Given the description of an element on the screen output the (x, y) to click on. 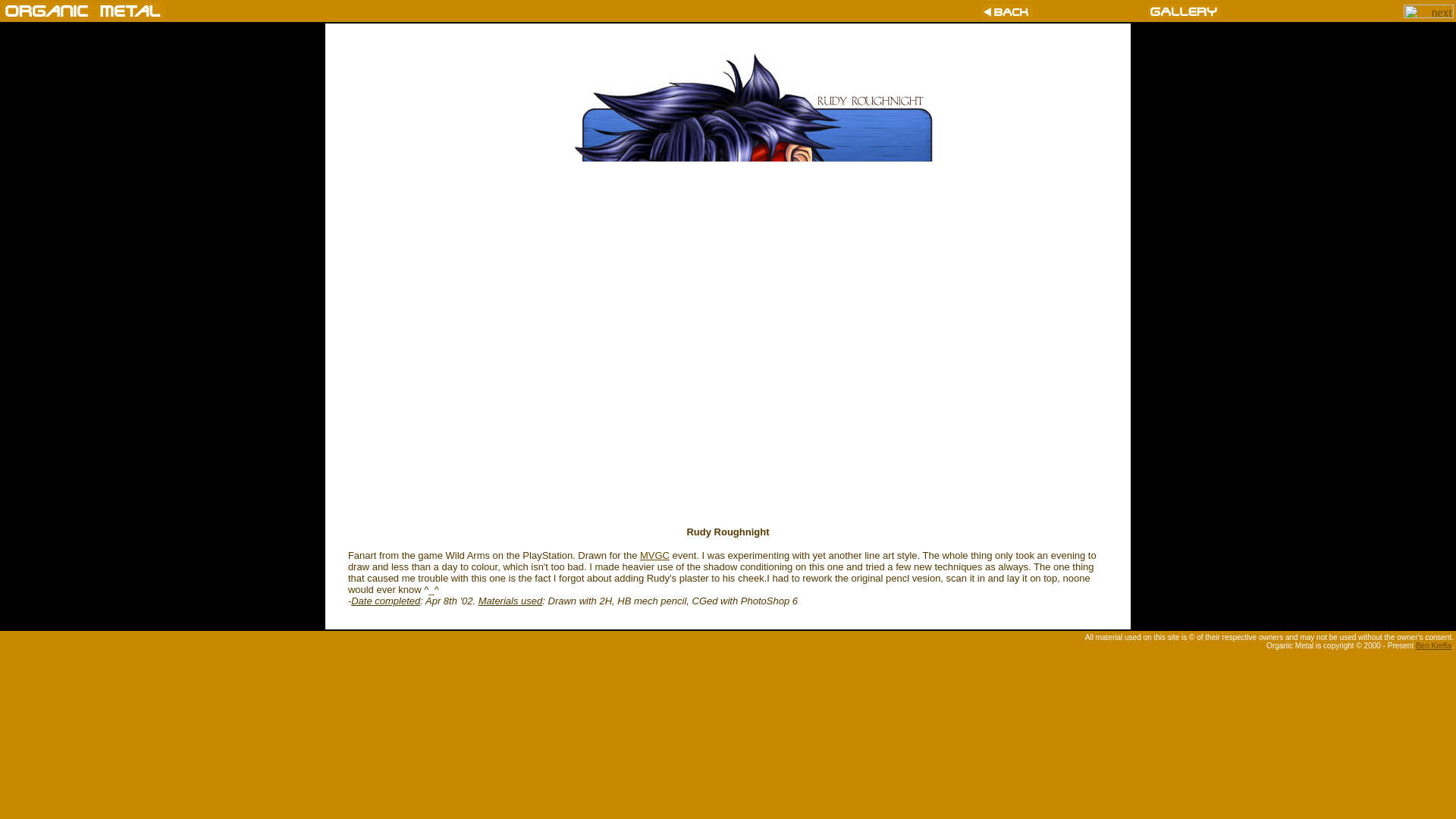
MVGC (654, 555)
Ben Krefta (1433, 645)
